Given the description of an element on the screen output the (x, y) to click on. 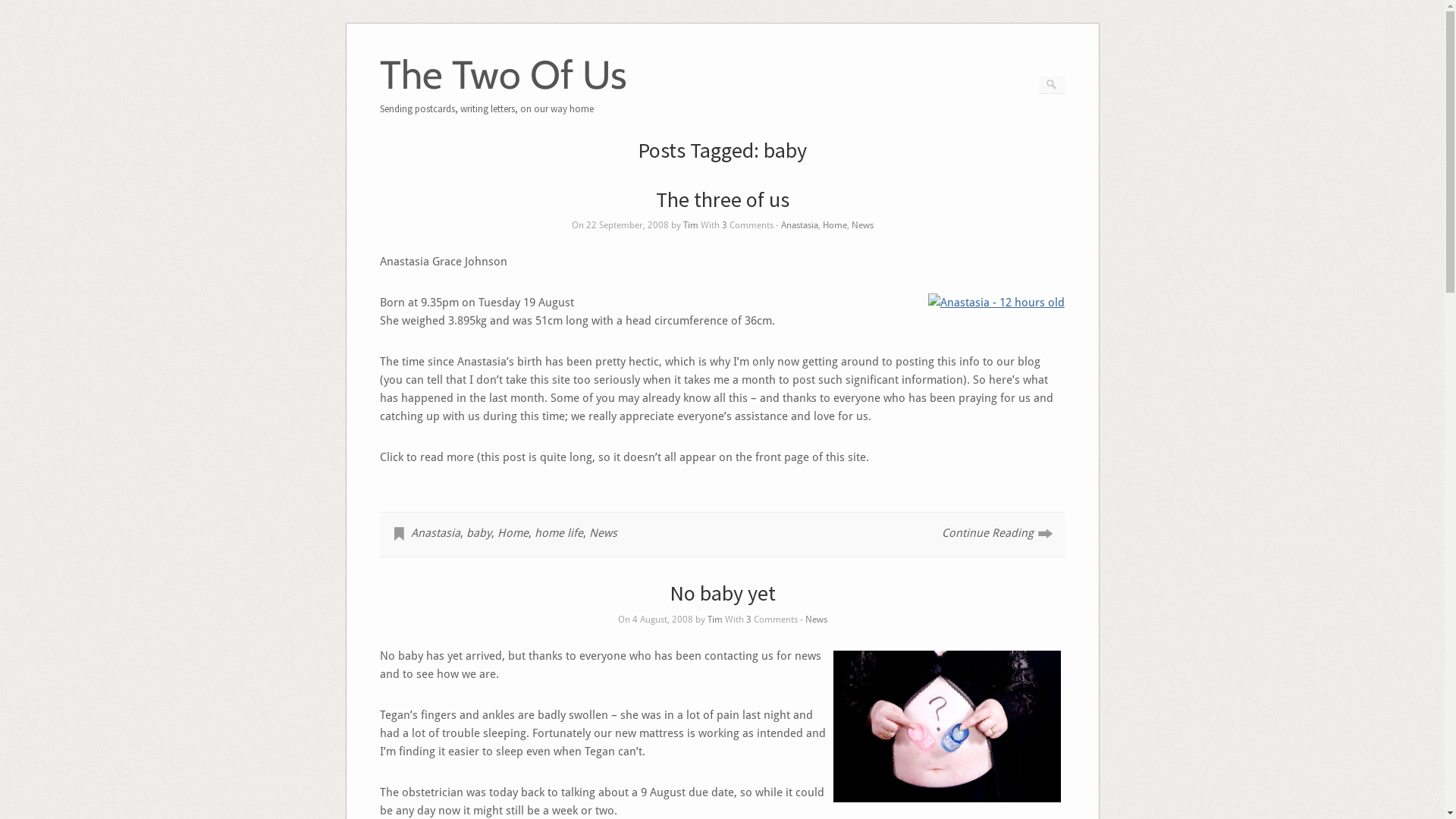
What will it be? Element type: hover (946, 726)
Home Element type: text (834, 224)
Anastasia Element type: text (799, 224)
baby Element type: text (478, 532)
Home Element type: text (512, 532)
home life Element type: text (558, 532)
Anastasia - 12 hours old by Mister Tim, on Flickr Element type: hover (996, 302)
Tim Element type: text (713, 619)
News Element type: text (816, 619)
Continue Reading Element type: text (987, 532)
Search Element type: text (21, 7)
The three of us Element type: text (721, 199)
News Element type: text (861, 224)
No baby yet Element type: text (721, 592)
Anastasia Element type: text (435, 532)
News Element type: text (603, 532)
Tim Element type: text (689, 224)
